Given the description of an element on the screen output the (x, y) to click on. 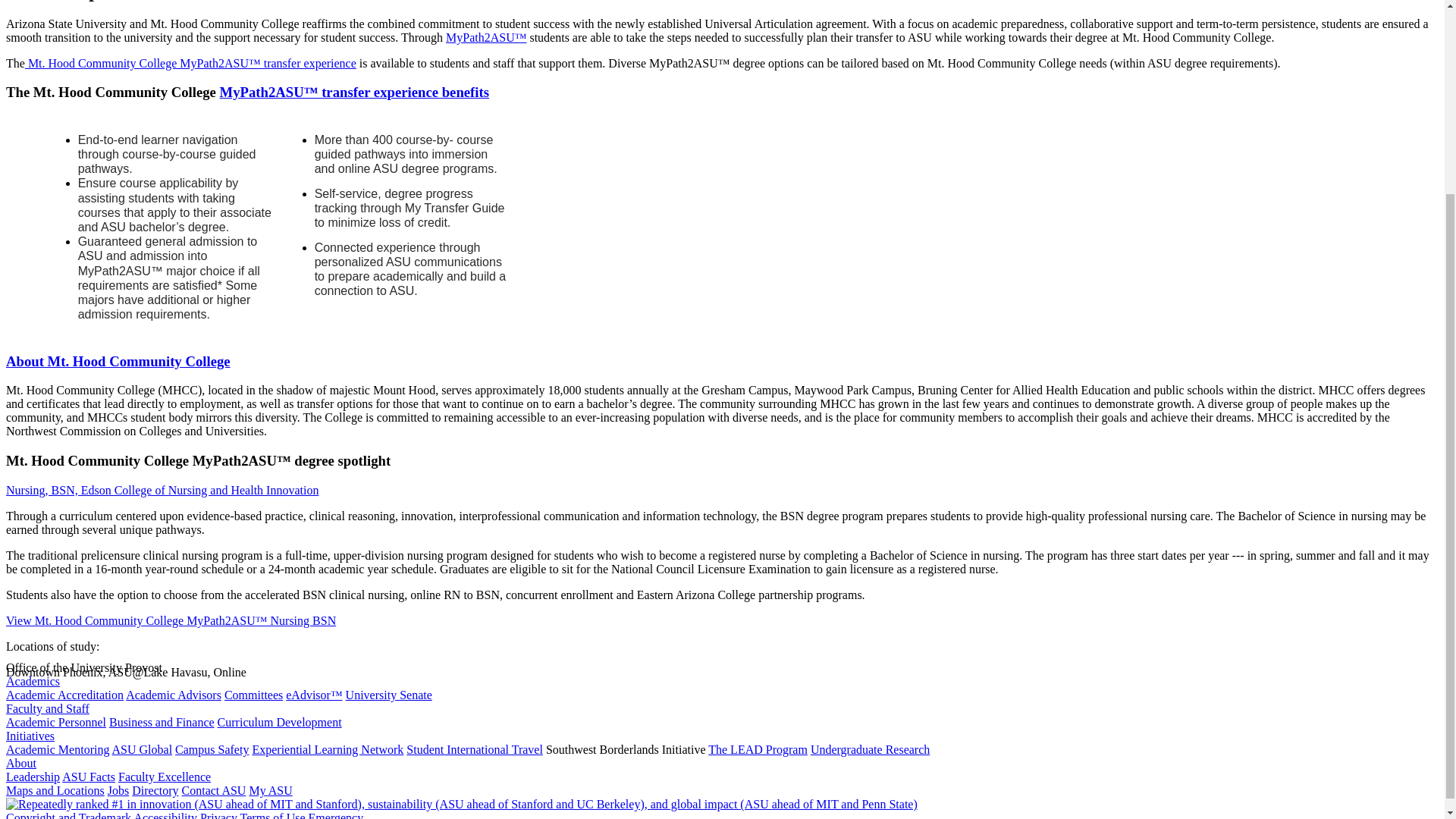
Initiatives (30, 735)
ASU Global (142, 748)
Academic Mentoring (57, 748)
Nursing, BSN, Edson College of Nursing and Health Innovation (161, 490)
Academics (32, 680)
Student International Travel (474, 748)
Directory (154, 789)
Undergraduate Research (870, 748)
ASU Facts (88, 776)
Committees (253, 694)
Maps and Locations (54, 789)
Faculty and Staff (46, 707)
Business and Finance (161, 721)
My ASU (270, 789)
University Senate (389, 694)
